Given the description of an element on the screen output the (x, y) to click on. 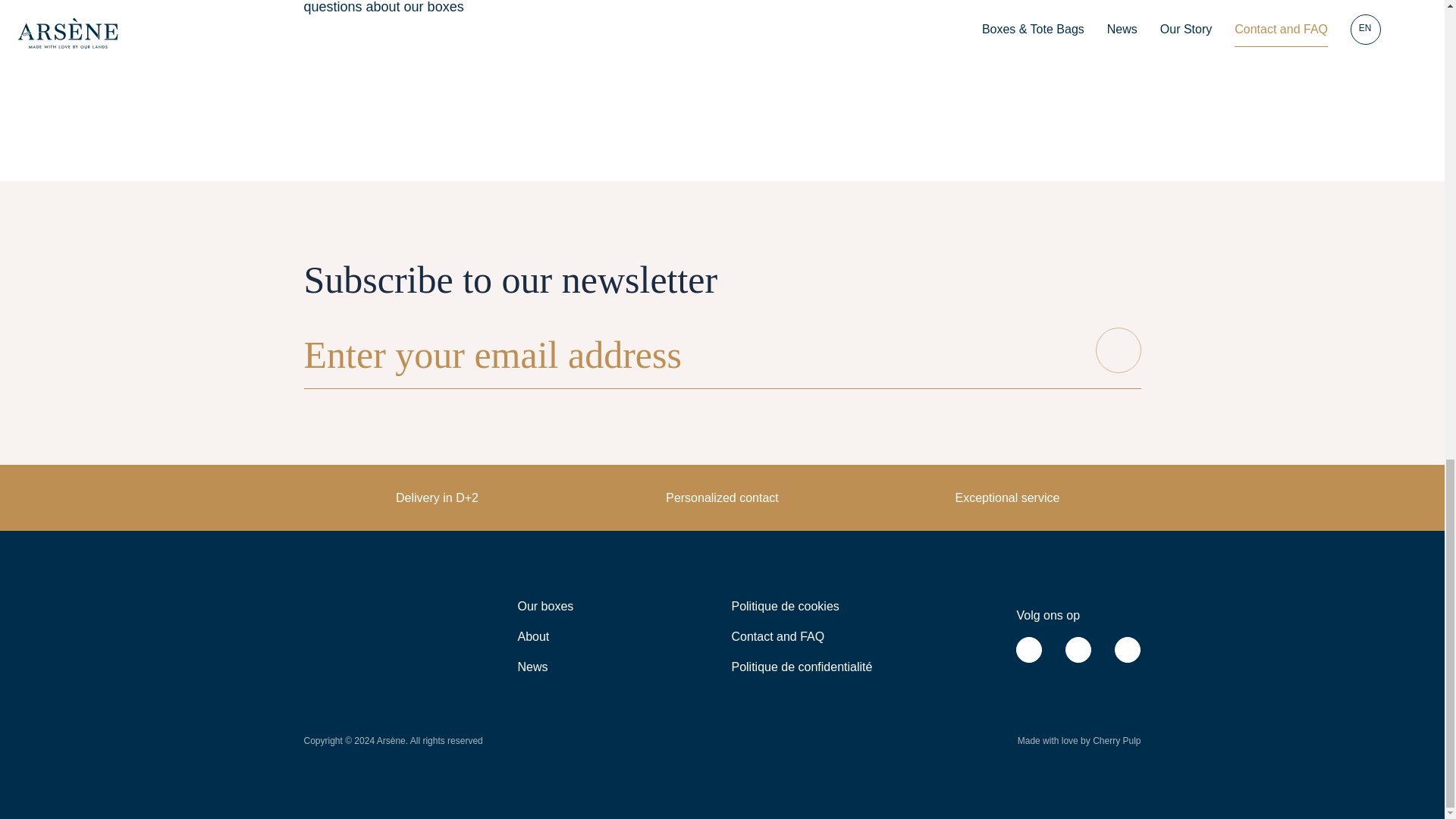
Submit (1117, 350)
About (532, 635)
Submit (1117, 350)
News (531, 666)
Politique de cookies (784, 605)
Contact and FAQ (777, 635)
Our boxes (544, 605)
Cherry Pulp (1116, 740)
